Given the description of an element on the screen output the (x, y) to click on. 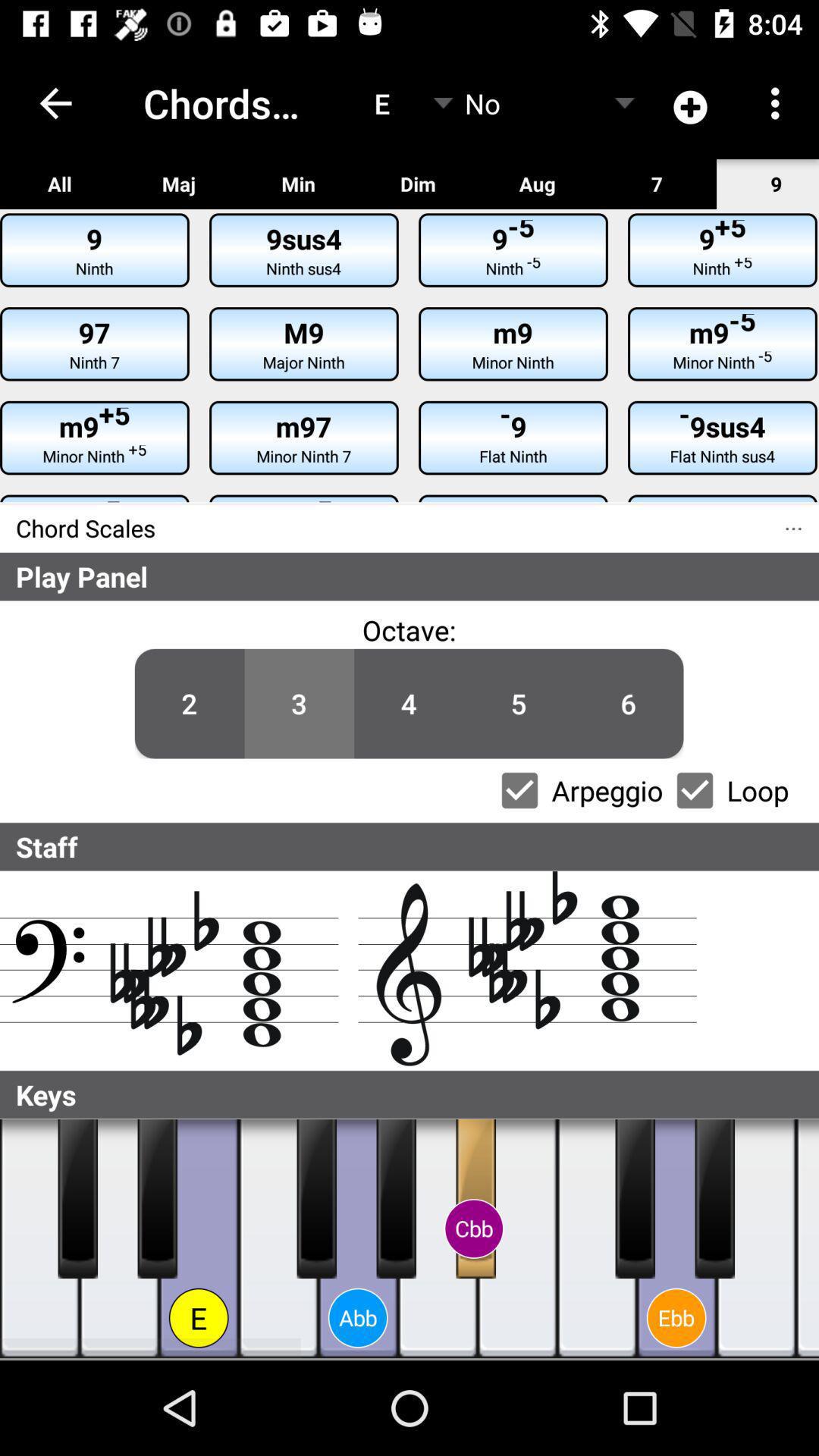
play note (714, 1198)
